Given the description of an element on the screen output the (x, y) to click on. 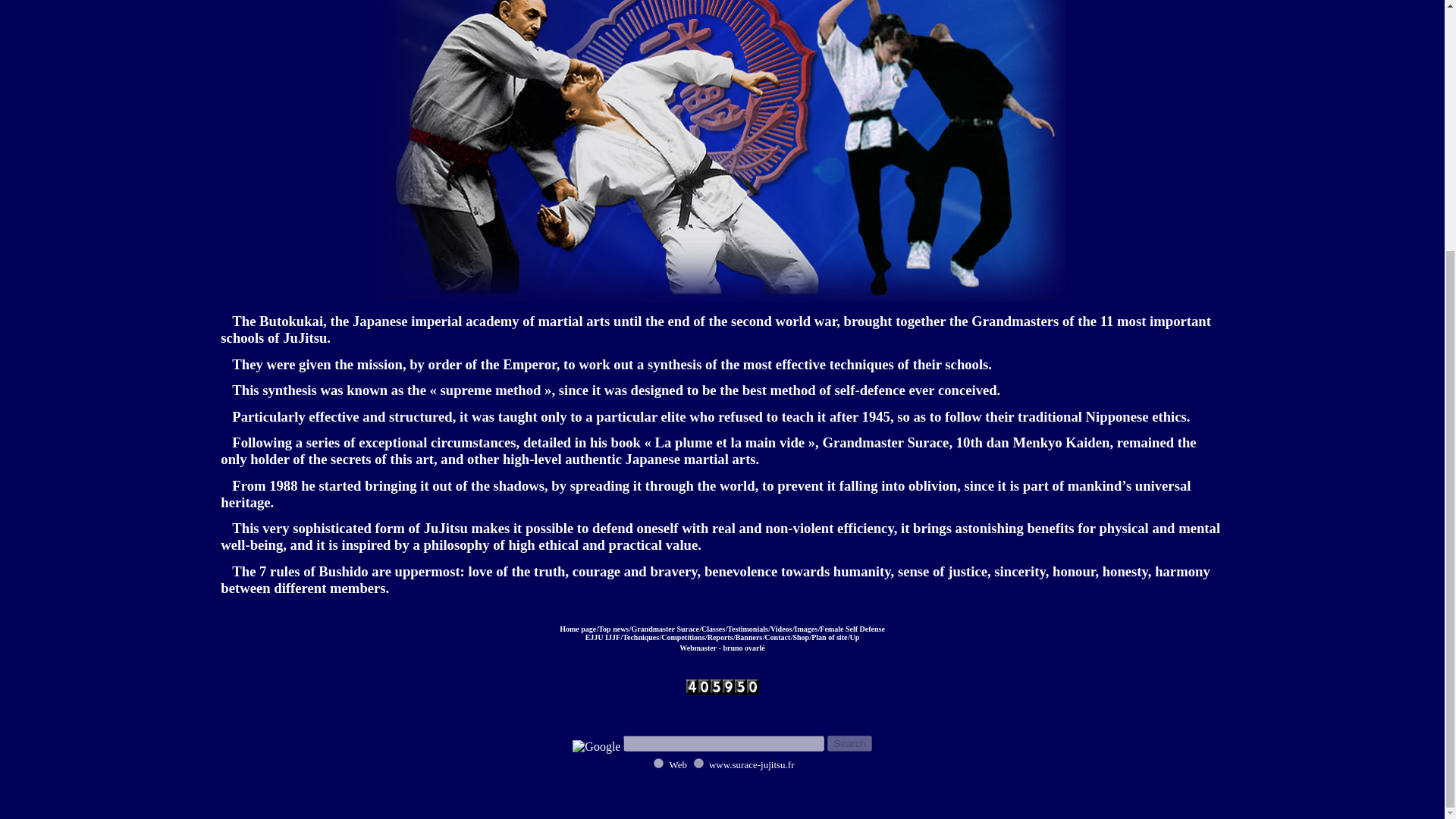
Top news (613, 628)
Images (806, 628)
Classes (713, 628)
Grandmaster Surace (664, 628)
www.surace-jujitsu.fr (698, 763)
Videos (781, 628)
Female Self Defense (852, 628)
Home Page: JuJitsu Butokukai (577, 628)
Plan of site (828, 637)
Techniques (641, 637)
